Given the description of an element on the screen output the (x, y) to click on. 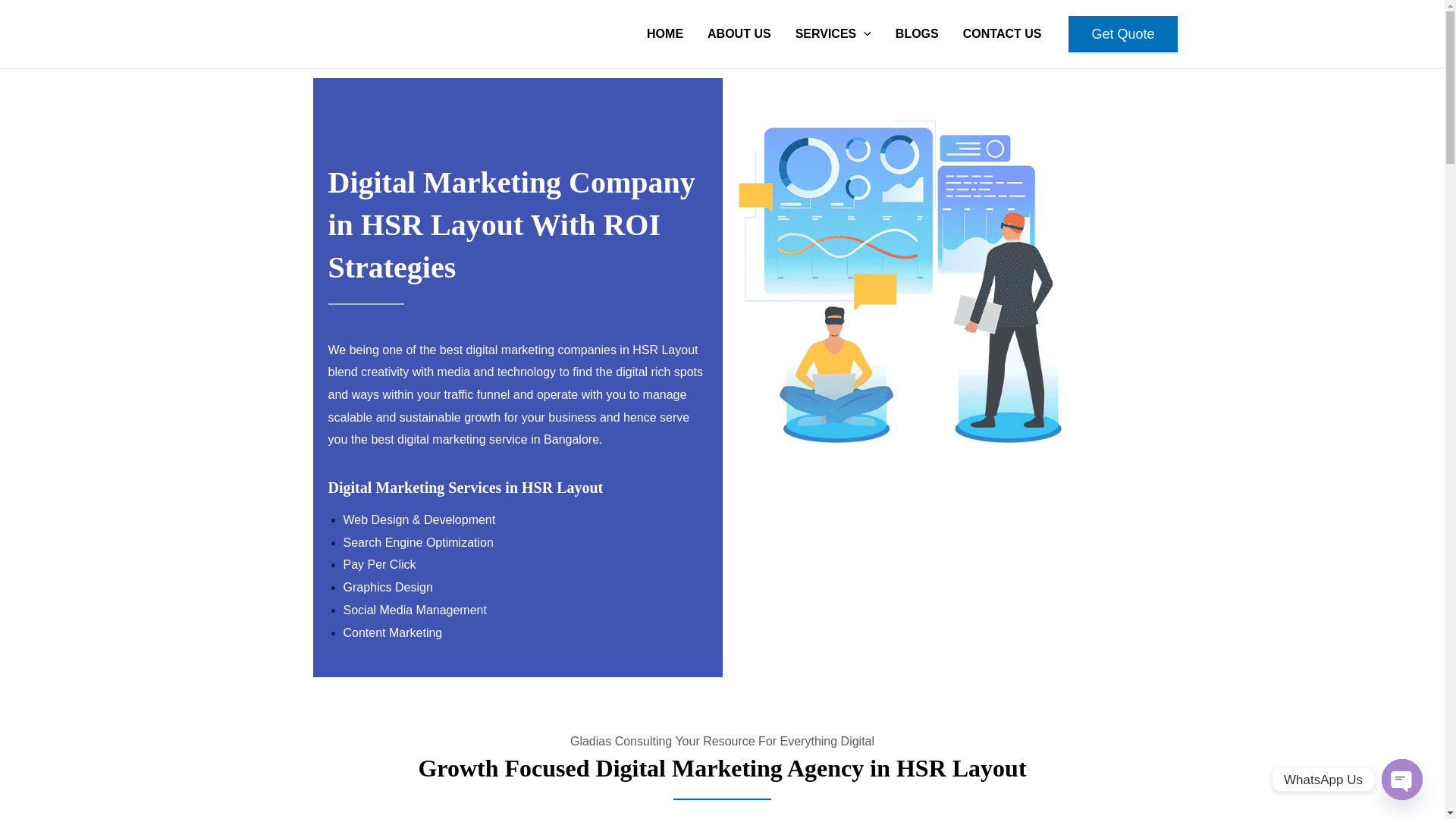
ABOUT US (739, 33)
HOME (664, 33)
SERVICES (833, 33)
Get Quote (1122, 33)
BLOGS (916, 33)
CONTACT US (1002, 33)
Gladias Consulting (898, 281)
